Given the description of an element on the screen output the (x, y) to click on. 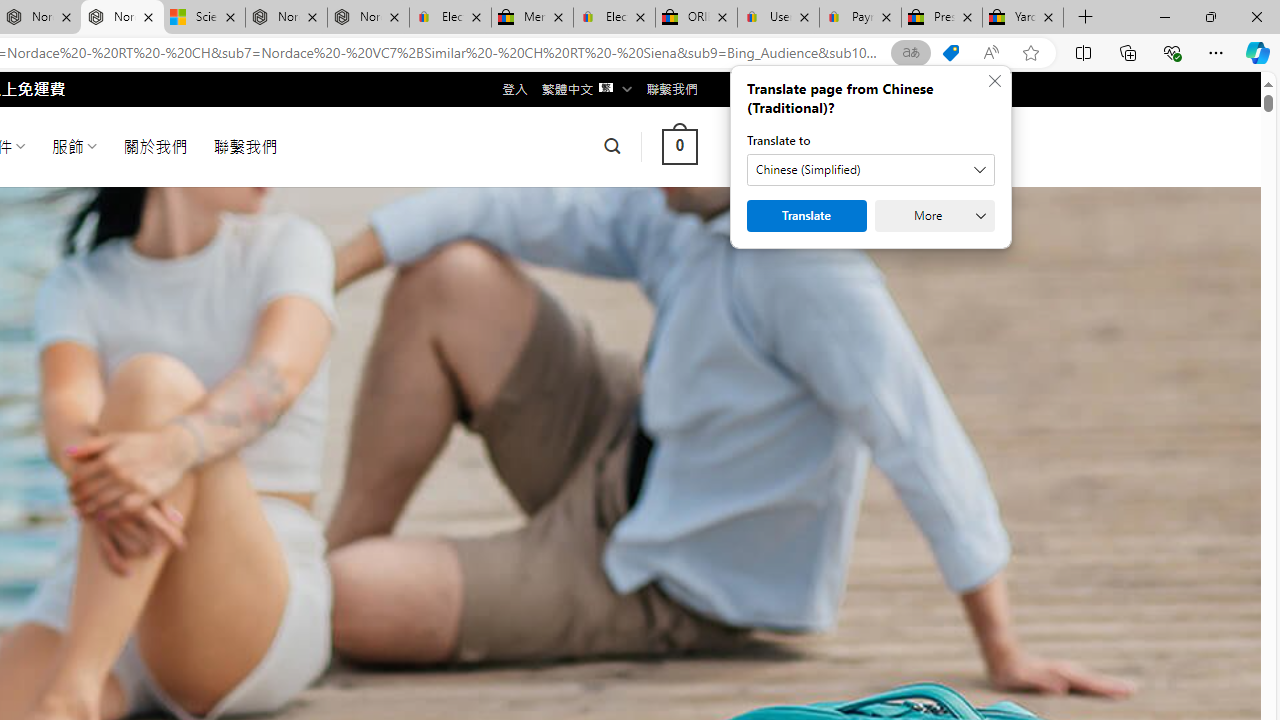
  0   (679, 146)
